Given the description of an element on the screen output the (x, y) to click on. 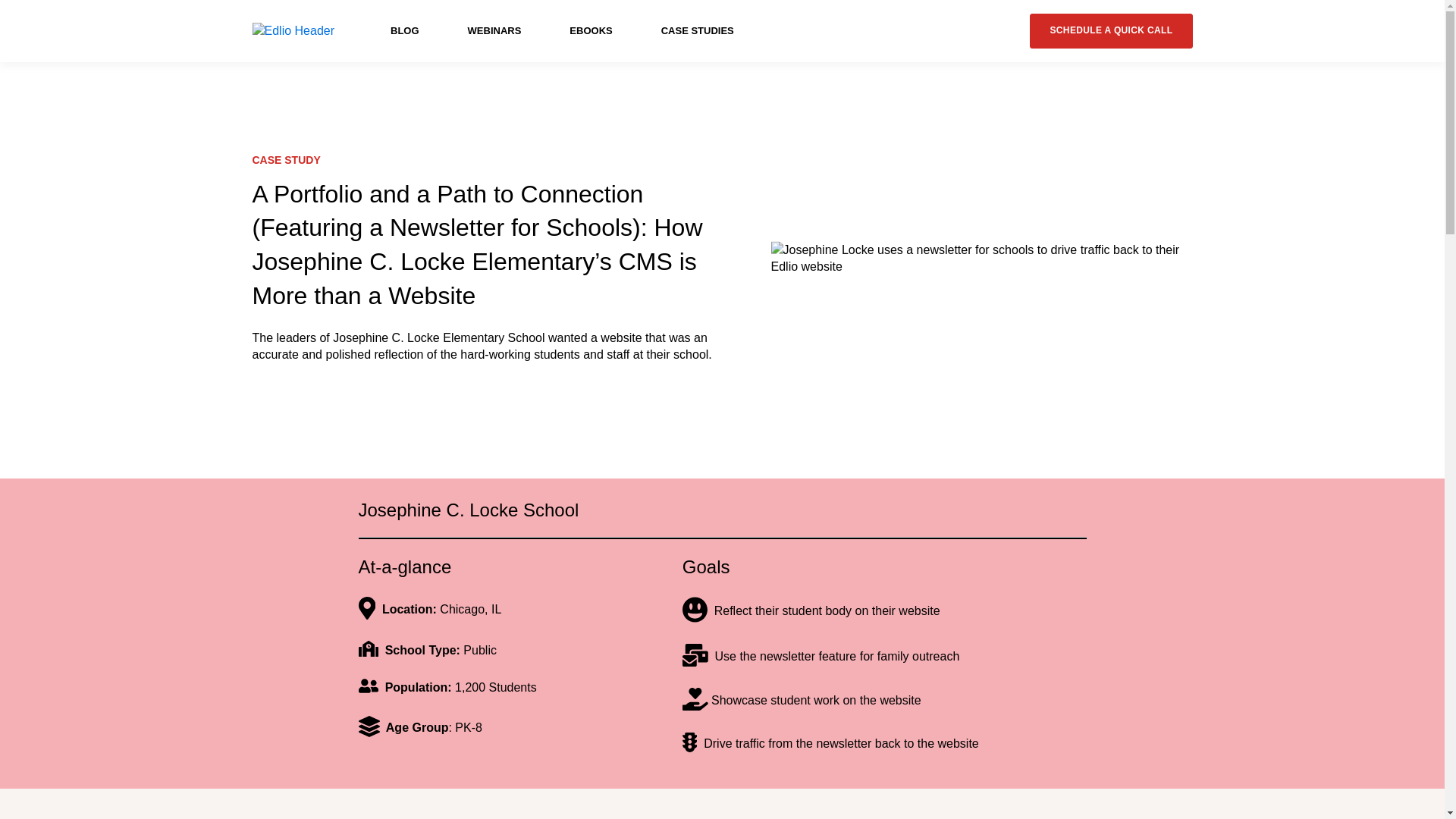
BLOG (404, 30)
EBOOKS (590, 30)
CASE STUDIES (697, 30)
WEBINARS (494, 30)
SCHEDULE A QUICK CALL (1110, 30)
